Given the description of an element on the screen output the (x, y) to click on. 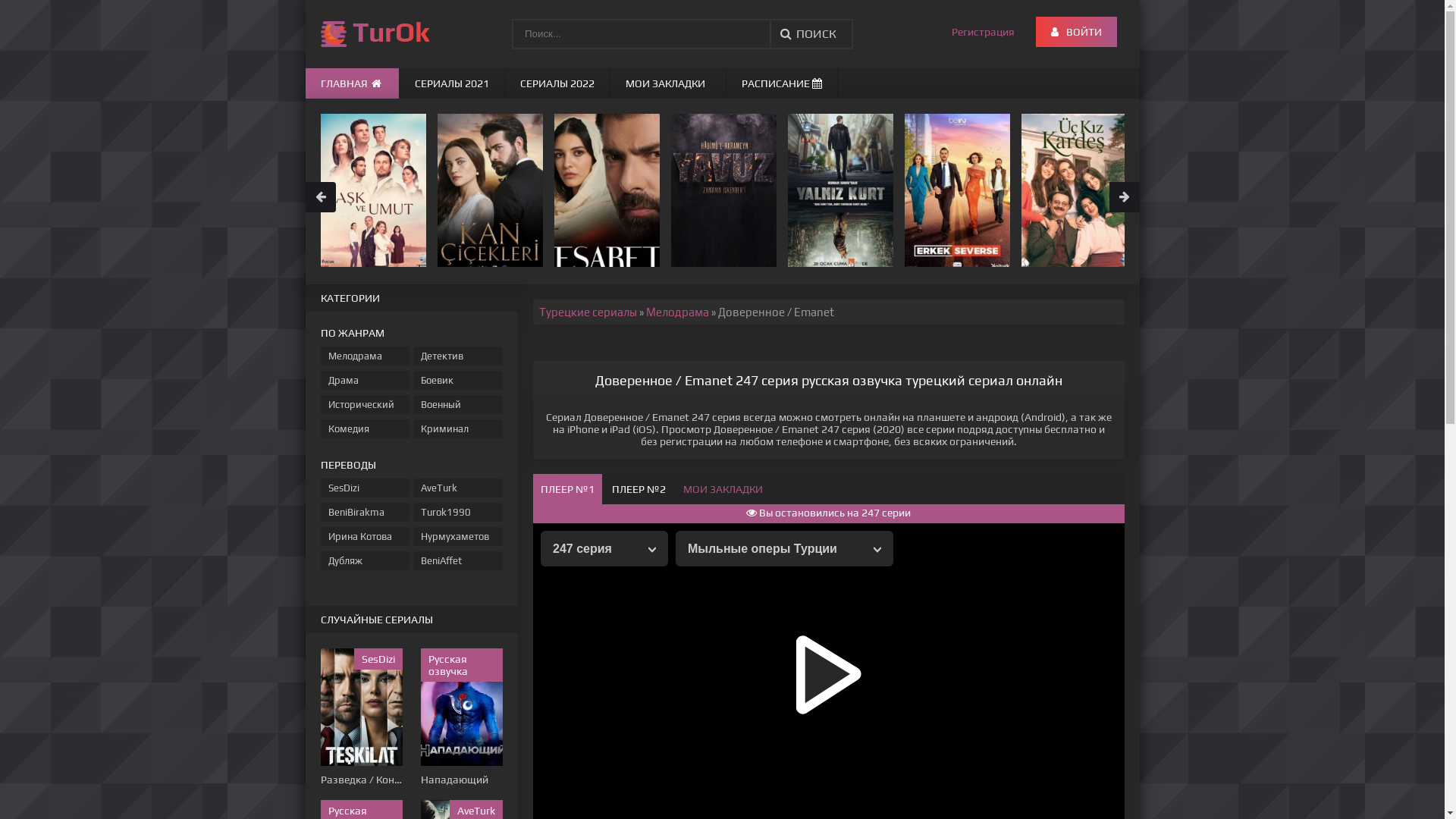
BeniBirakma Element type: text (364, 511)
BeniAffet Element type: text (457, 560)
Turok1990 Element type: text (457, 511)
AveTurk Element type: text (457, 487)
TurOk Element type: text (366, 33)
SesDizi Element type: text (364, 487)
